Given the description of an element on the screen output the (x, y) to click on. 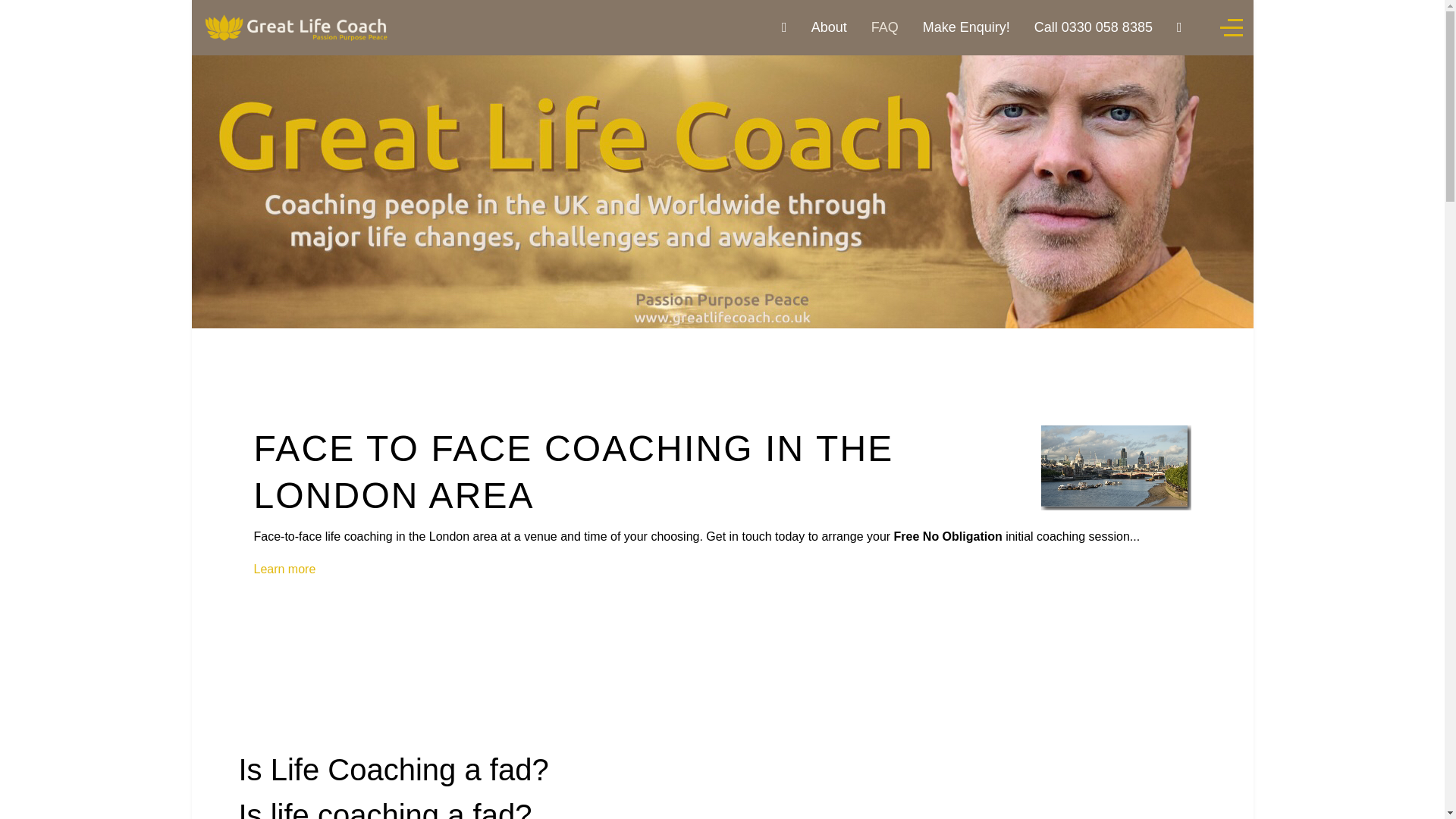
About (827, 27)
About (829, 27)
Learn more (284, 568)
Off-Canvas Toggle (1230, 26)
Call 0330 058 8385 (1091, 27)
FAQ (882, 27)
FAQ (885, 27)
Make Enquiry! (966, 27)
Call 0330 058 8385 (1093, 27)
Make Enquiry! (964, 27)
